Given the description of an element on the screen output the (x, y) to click on. 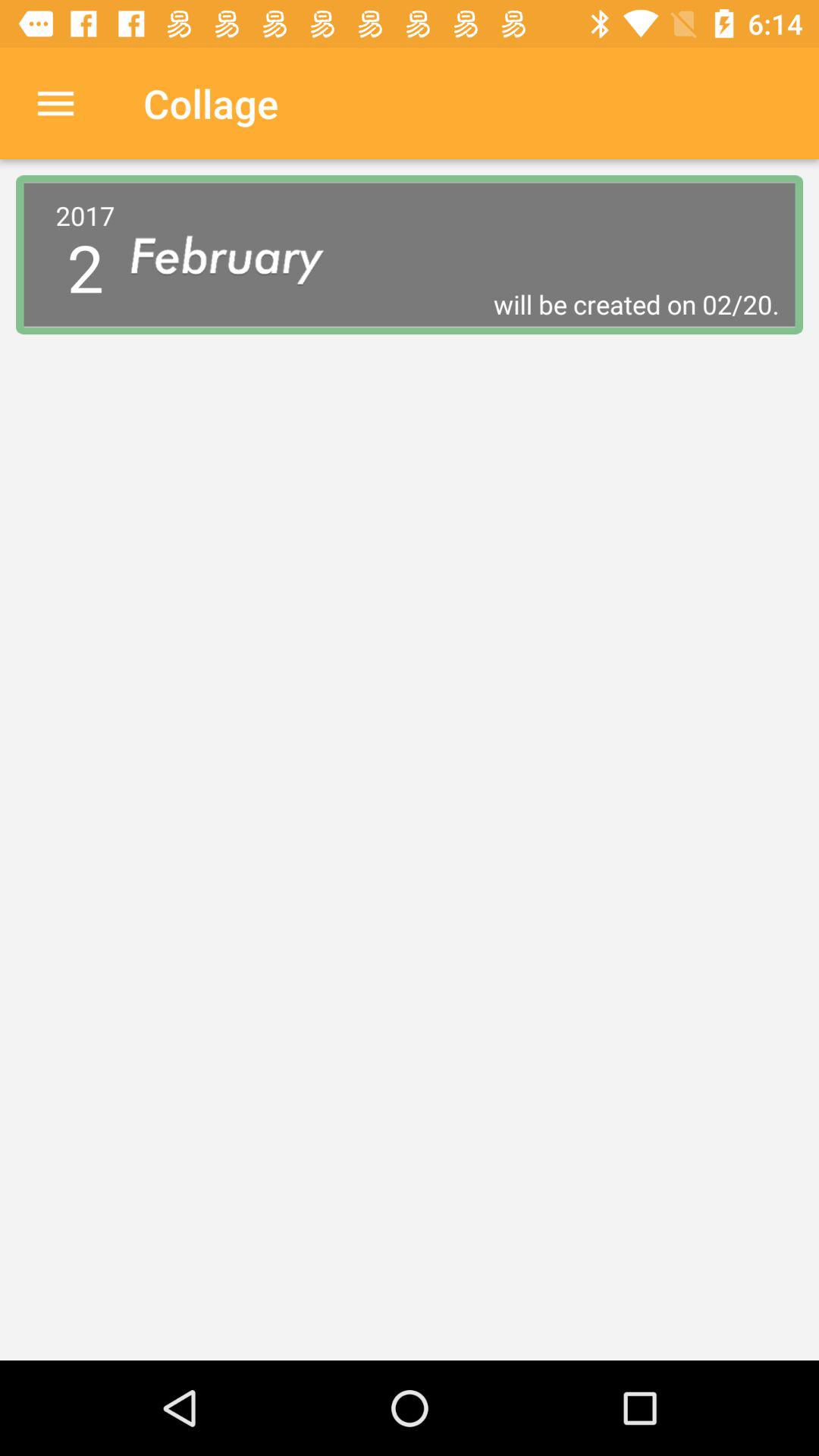
flip until the 2017
2 (84, 254)
